Given the description of an element on the screen output the (x, y) to click on. 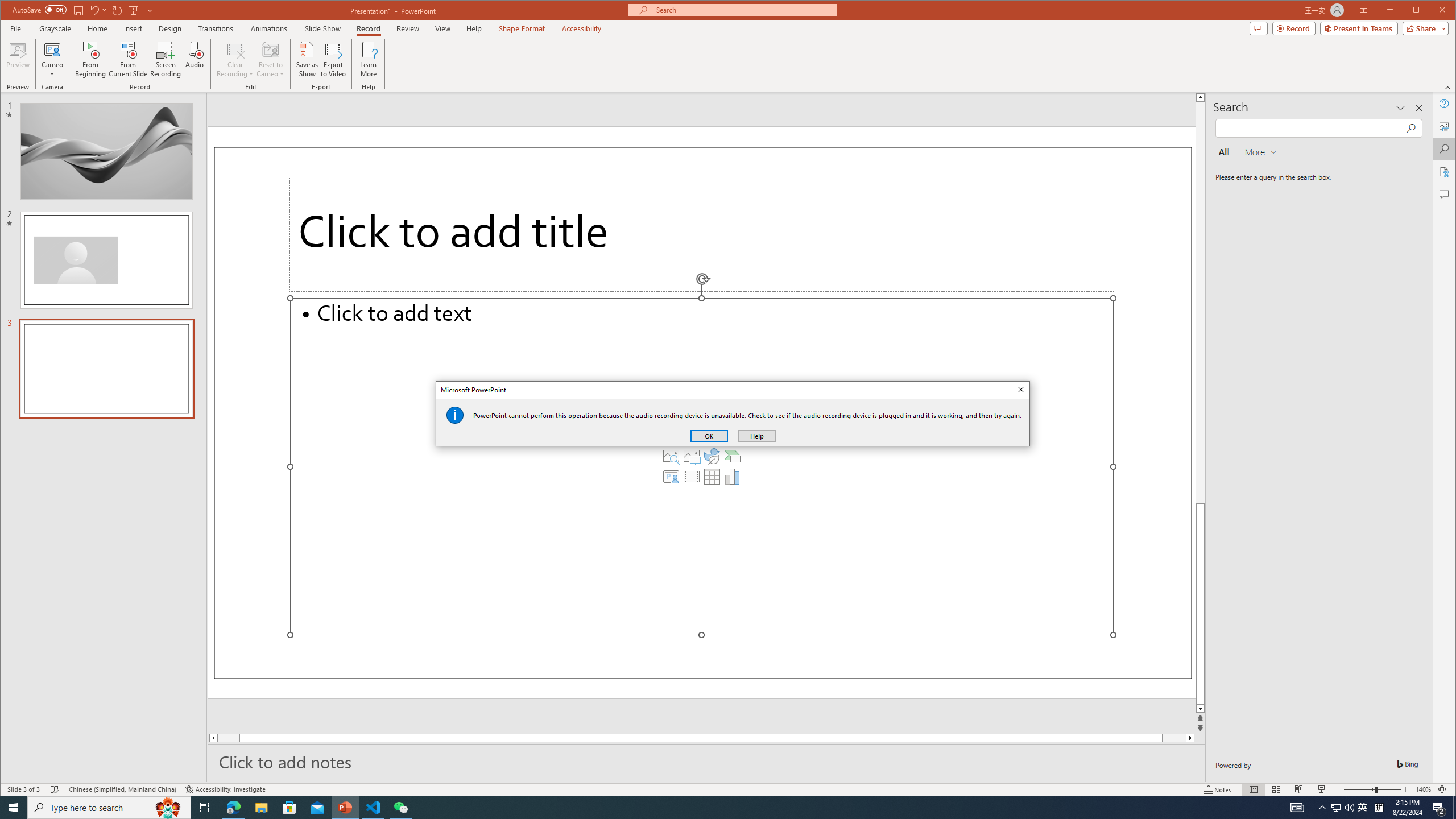
Learn More (368, 59)
Insert Chart (732, 476)
Reset to Cameo (269, 59)
Alt Text (1444, 125)
